Given the description of an element on the screen output the (x, y) to click on. 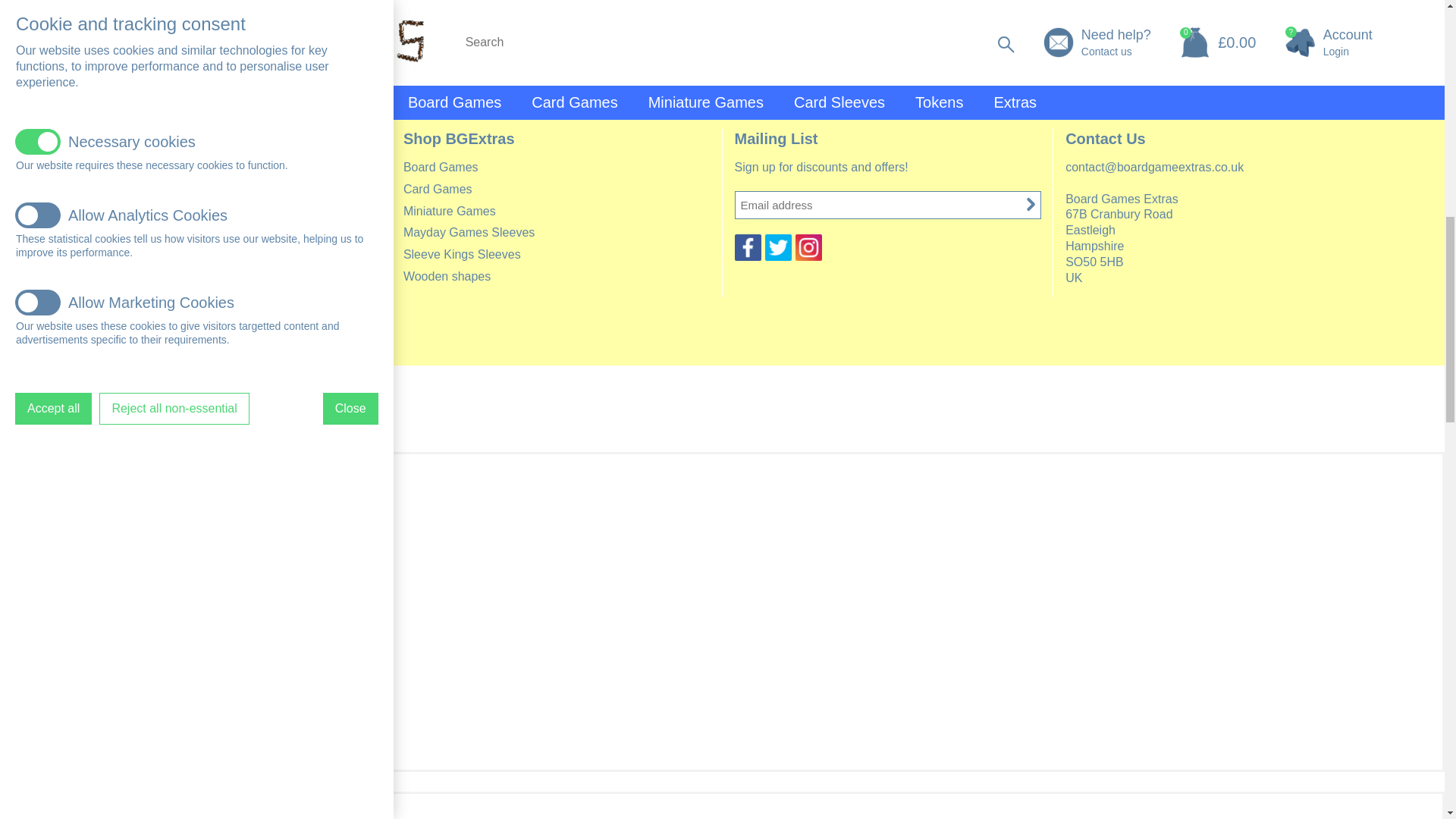
Facebook (746, 247)
Twitter (777, 247)
Instagram (807, 247)
